Given the description of an element on the screen output the (x, y) to click on. 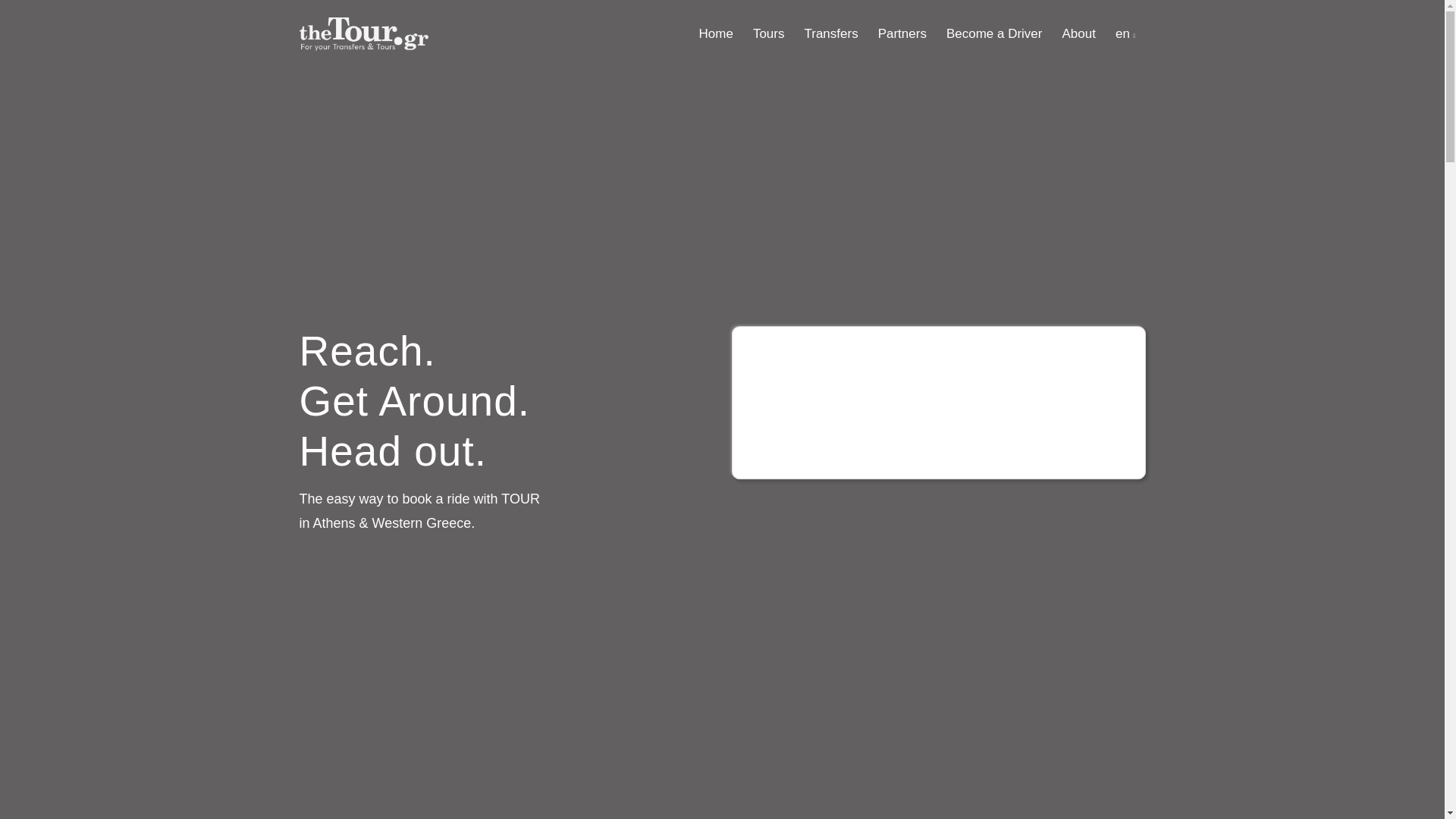
About (1077, 33)
en (1125, 33)
Home (716, 33)
Partners (902, 33)
Tours (768, 33)
Become a Driver (994, 33)
Transfers (830, 33)
